Given the description of an element on the screen output the (x, y) to click on. 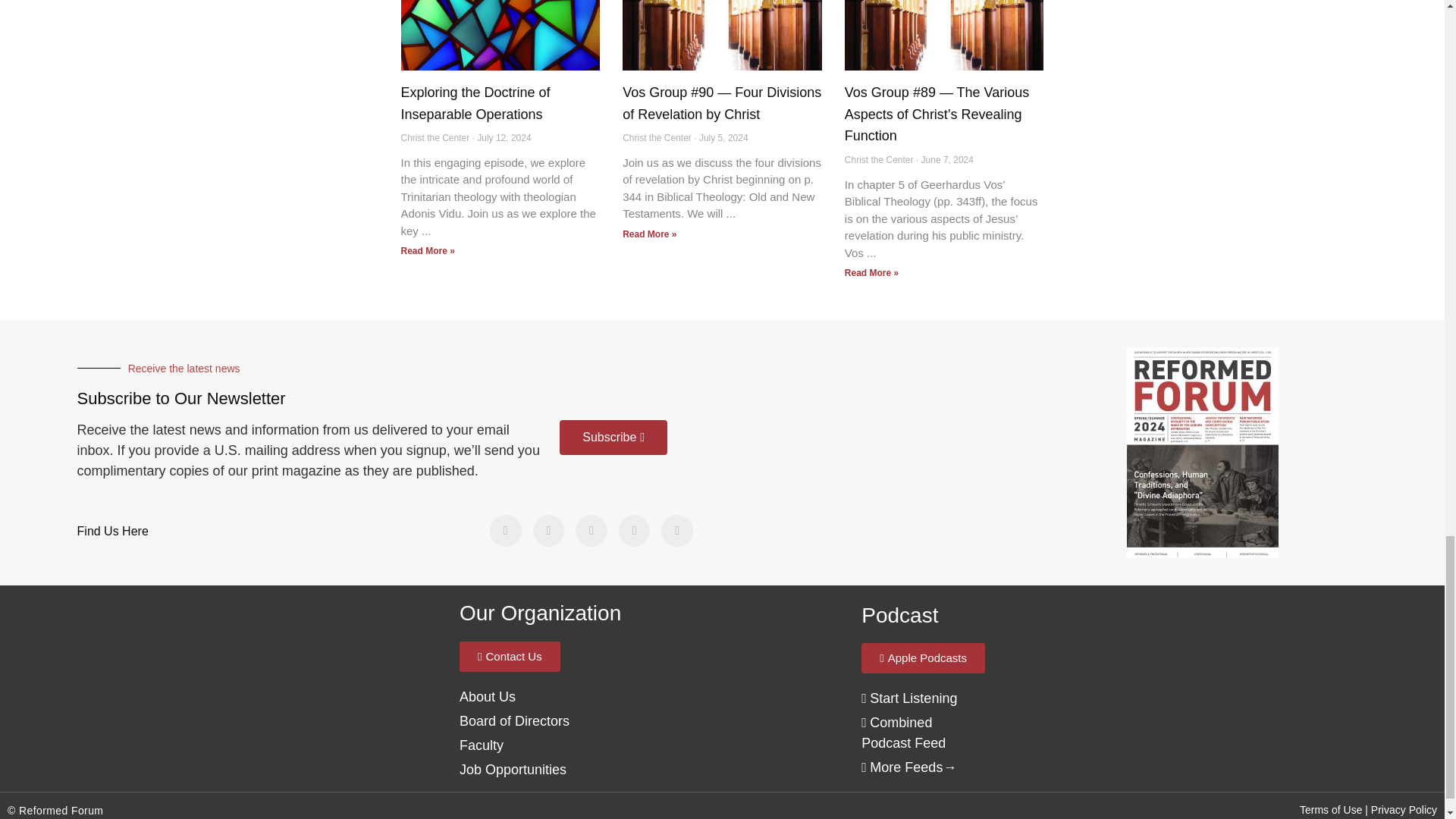
About Us (514, 720)
Podcast Feed (902, 732)
About Us (487, 696)
More Feeds (901, 767)
Podcast Feed (908, 698)
Faculty (481, 744)
